Given the description of an element on the screen output the (x, y) to click on. 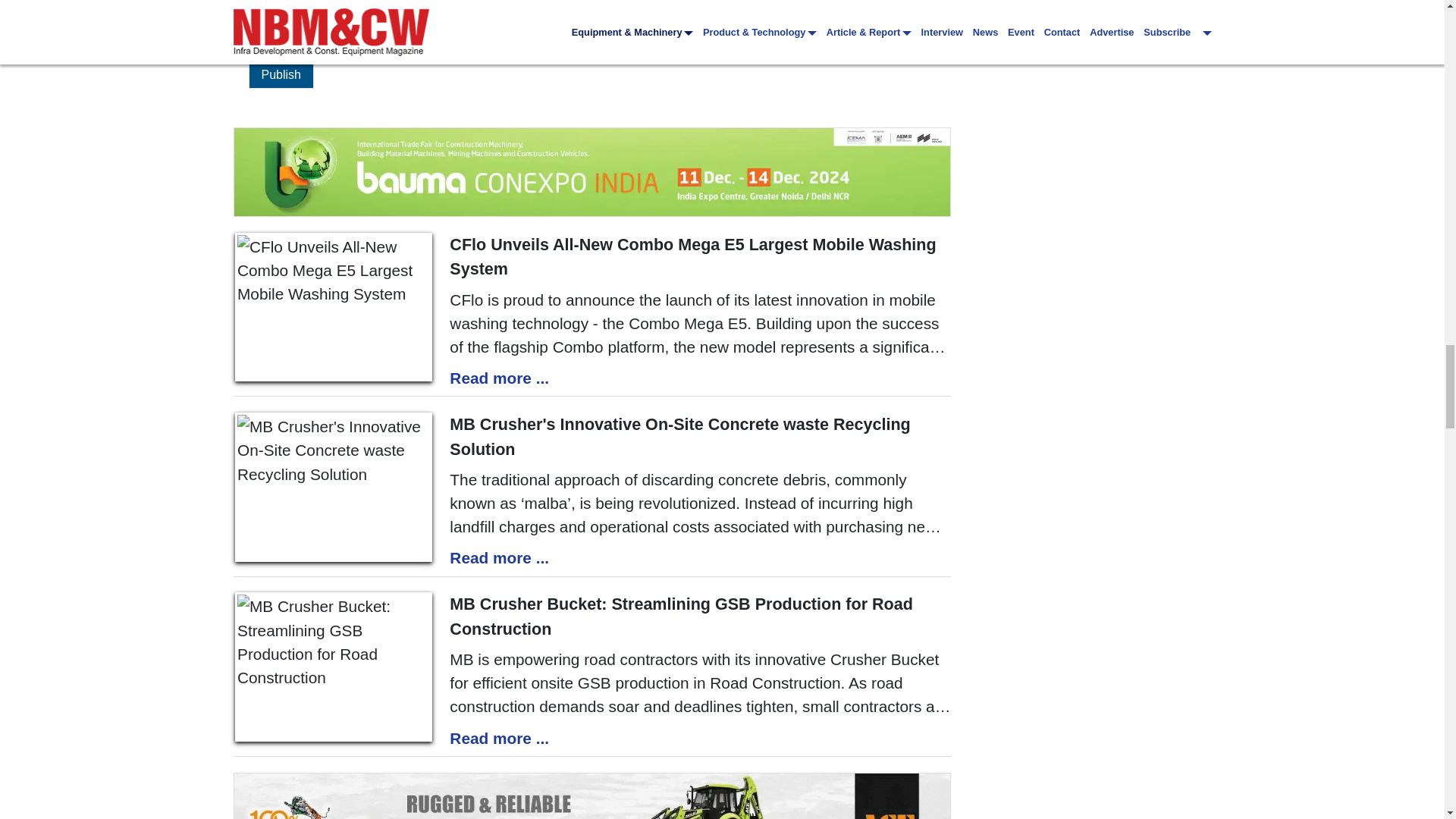
ACE - India's No. 1 CRANE BRAND (591, 796)
1 (253, 35)
bauma Conexpo India 11 - 14 Dec 2024 (591, 171)
